Given the description of an element on the screen output the (x, y) to click on. 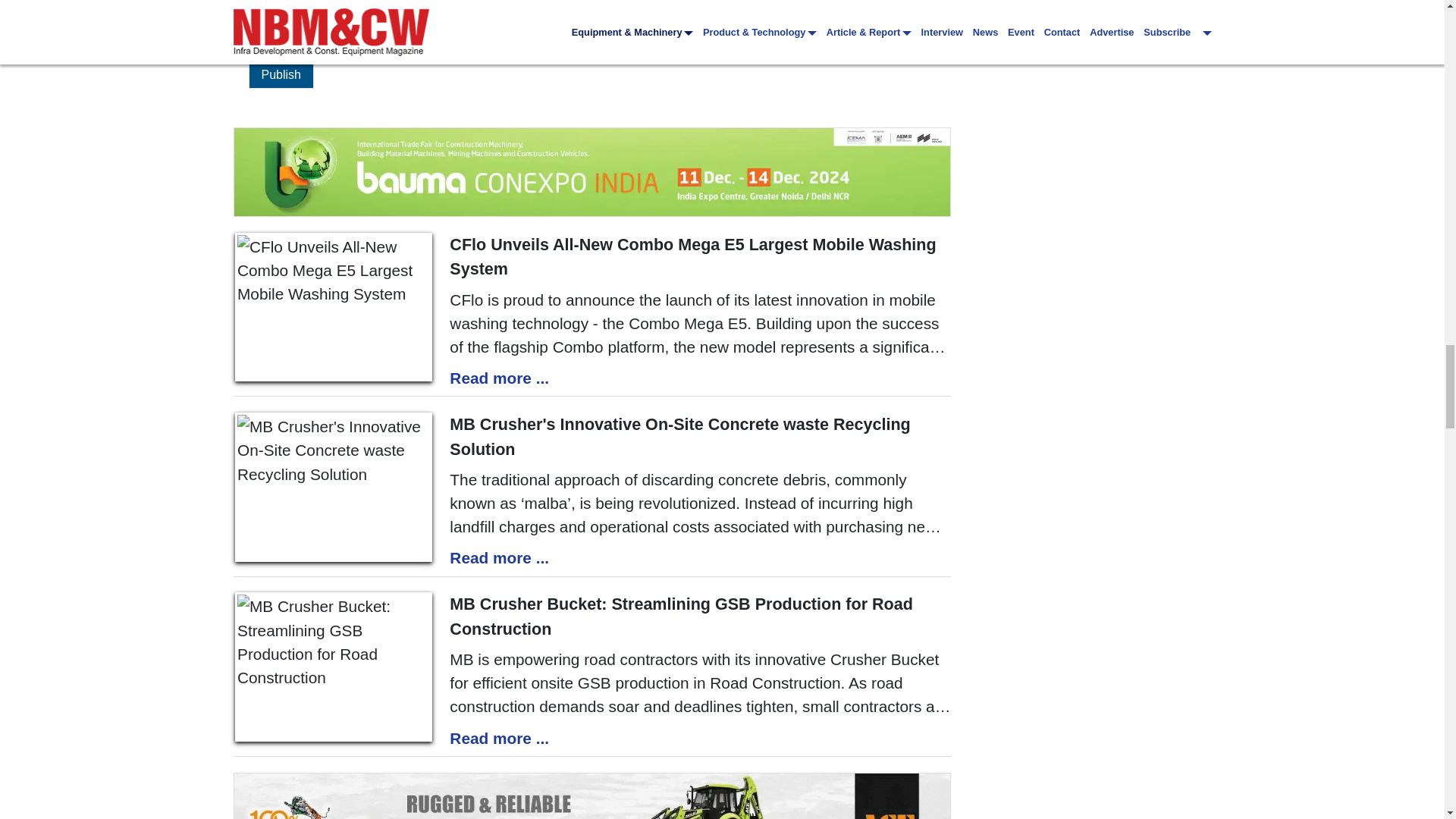
ACE - India's No. 1 CRANE BRAND (591, 796)
1 (253, 35)
bauma Conexpo India 11 - 14 Dec 2024 (591, 171)
